Given the description of an element on the screen output the (x, y) to click on. 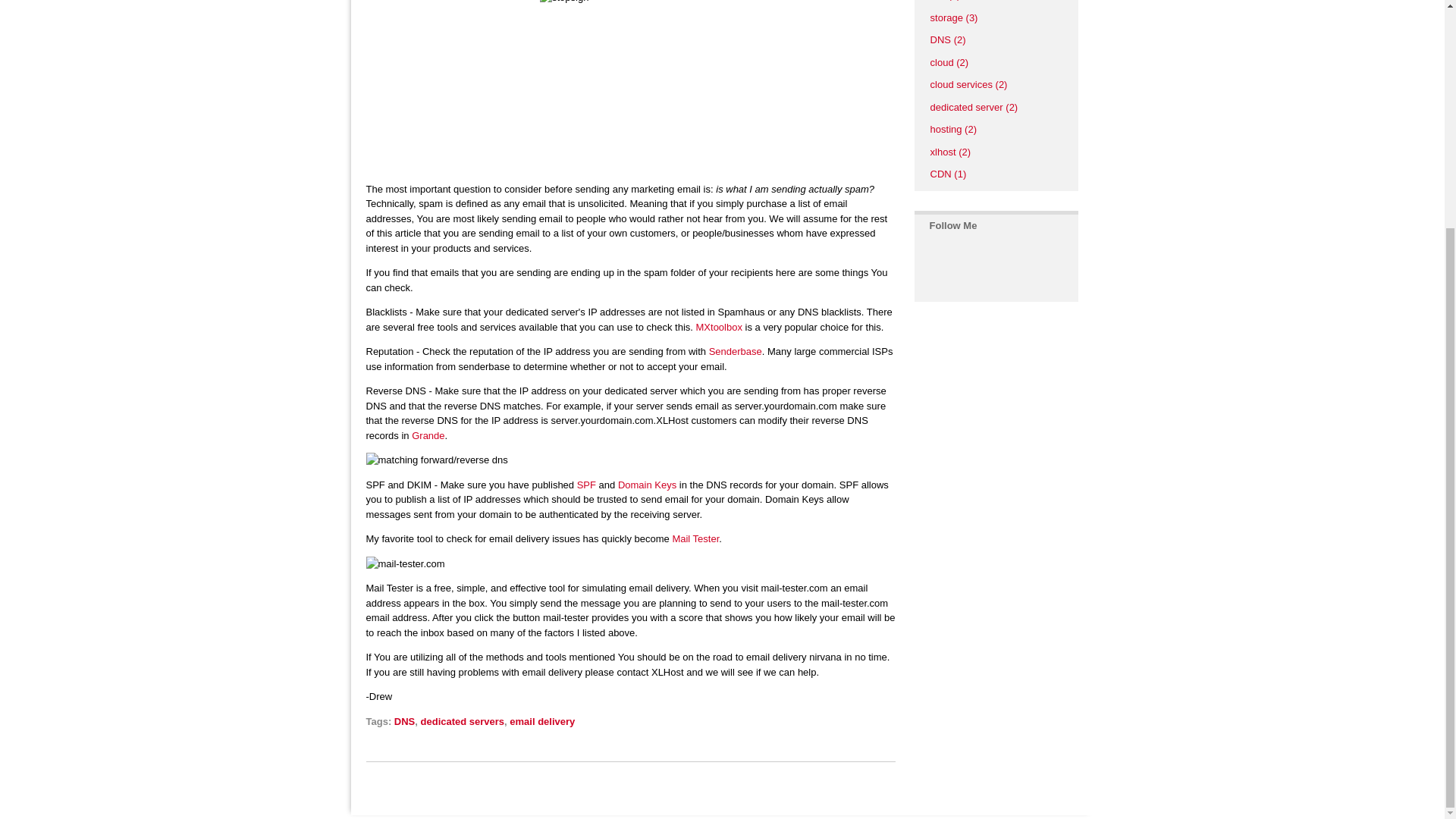
Domain Keys (647, 484)
Grande (428, 435)
Senderbase (735, 351)
Mail Tester (695, 538)
Follow us on Twitter (933, 269)
MXtoolbox (718, 326)
SPF (585, 484)
